Given the description of an element on the screen output the (x, y) to click on. 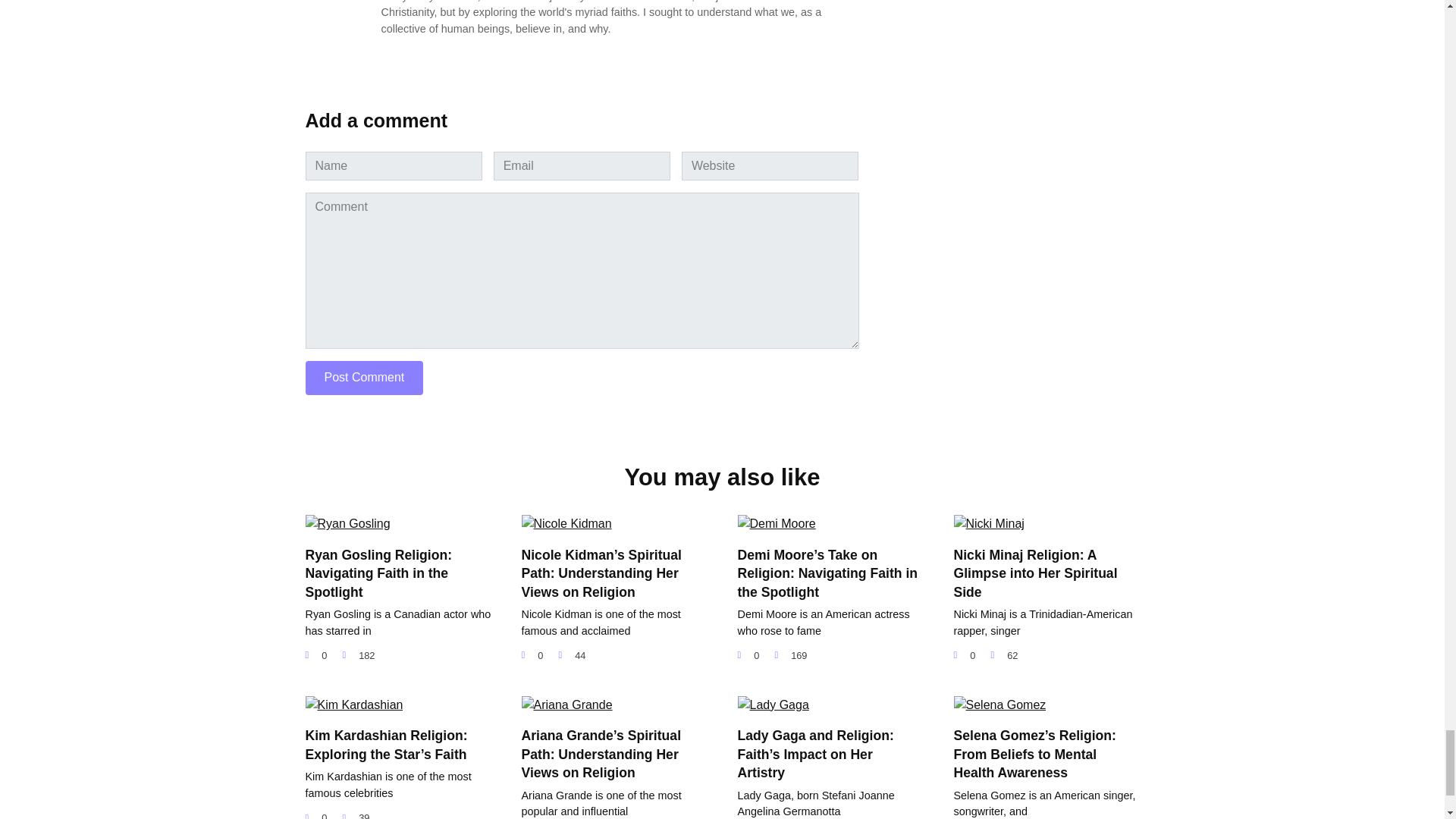
Post Comment (363, 377)
Ryan Gosling Religion: Navigating Faith in the Spotlight (377, 573)
Post Comment (363, 377)
